Given the description of an element on the screen output the (x, y) to click on. 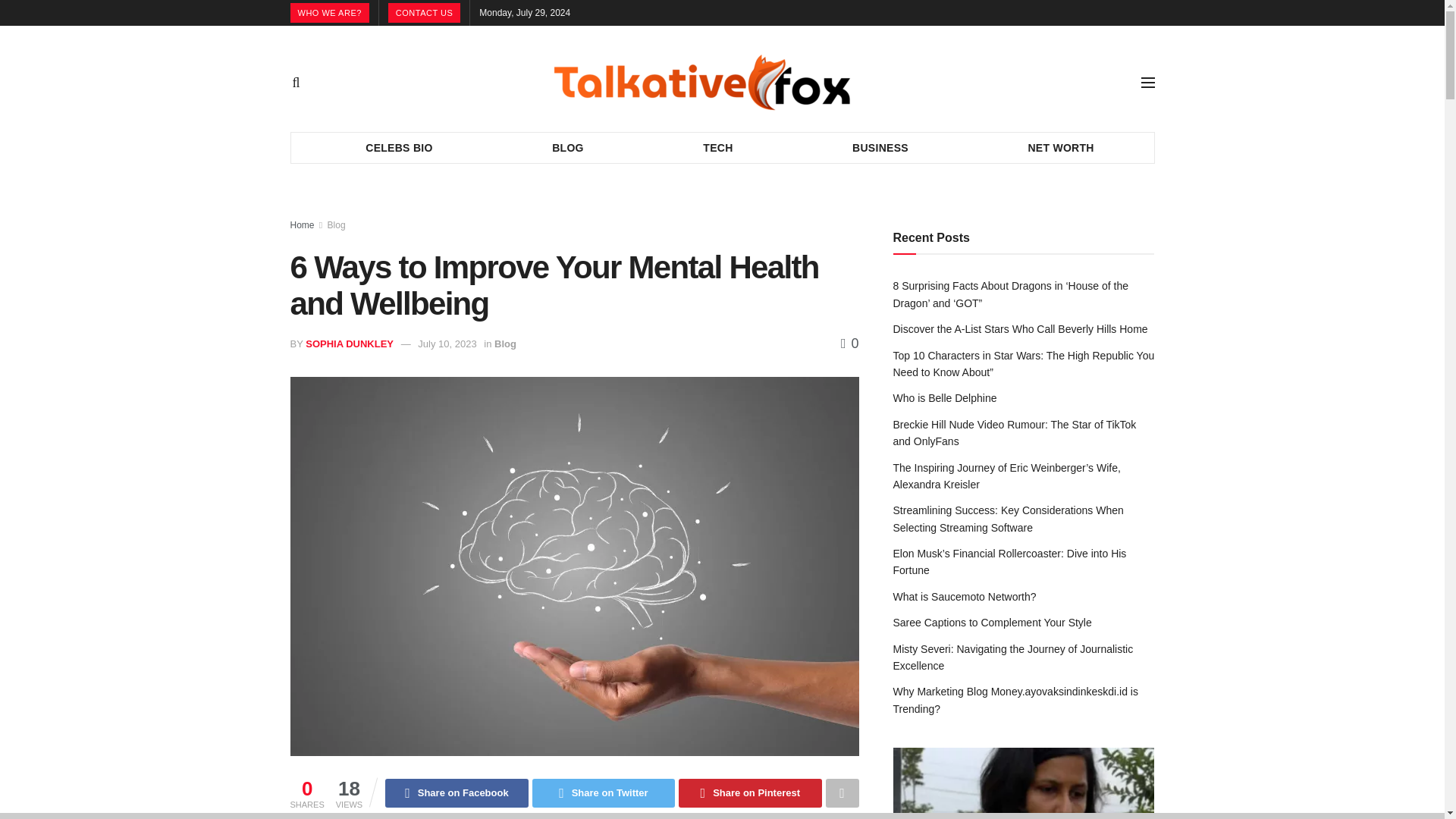
TECH (718, 147)
July 10, 2023 (446, 343)
Share on Pinterest (749, 792)
CELEBS BIO (399, 147)
Share on Twitter (603, 792)
SOPHIA DUNKLEY (349, 343)
Home (301, 225)
0 (850, 343)
CONTACT US (424, 12)
Blog (336, 225)
WHO WE ARE? (328, 12)
BUSINESS (880, 147)
BLOG (567, 147)
Share on Facebook (456, 792)
NET WORTH (1061, 147)
